Given the description of an element on the screen output the (x, y) to click on. 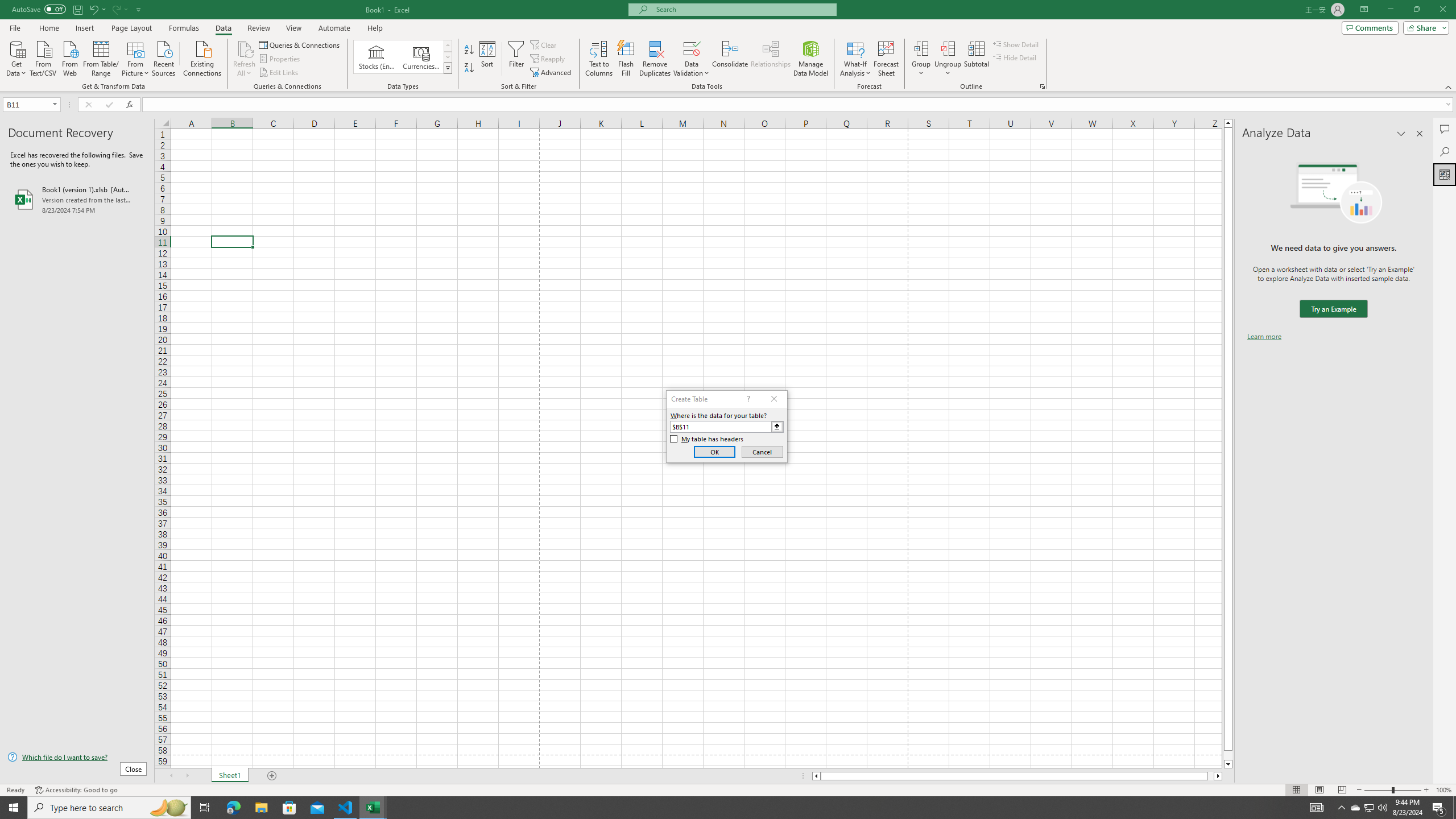
Learn more (1264, 336)
